Given the description of an element on the screen output the (x, y) to click on. 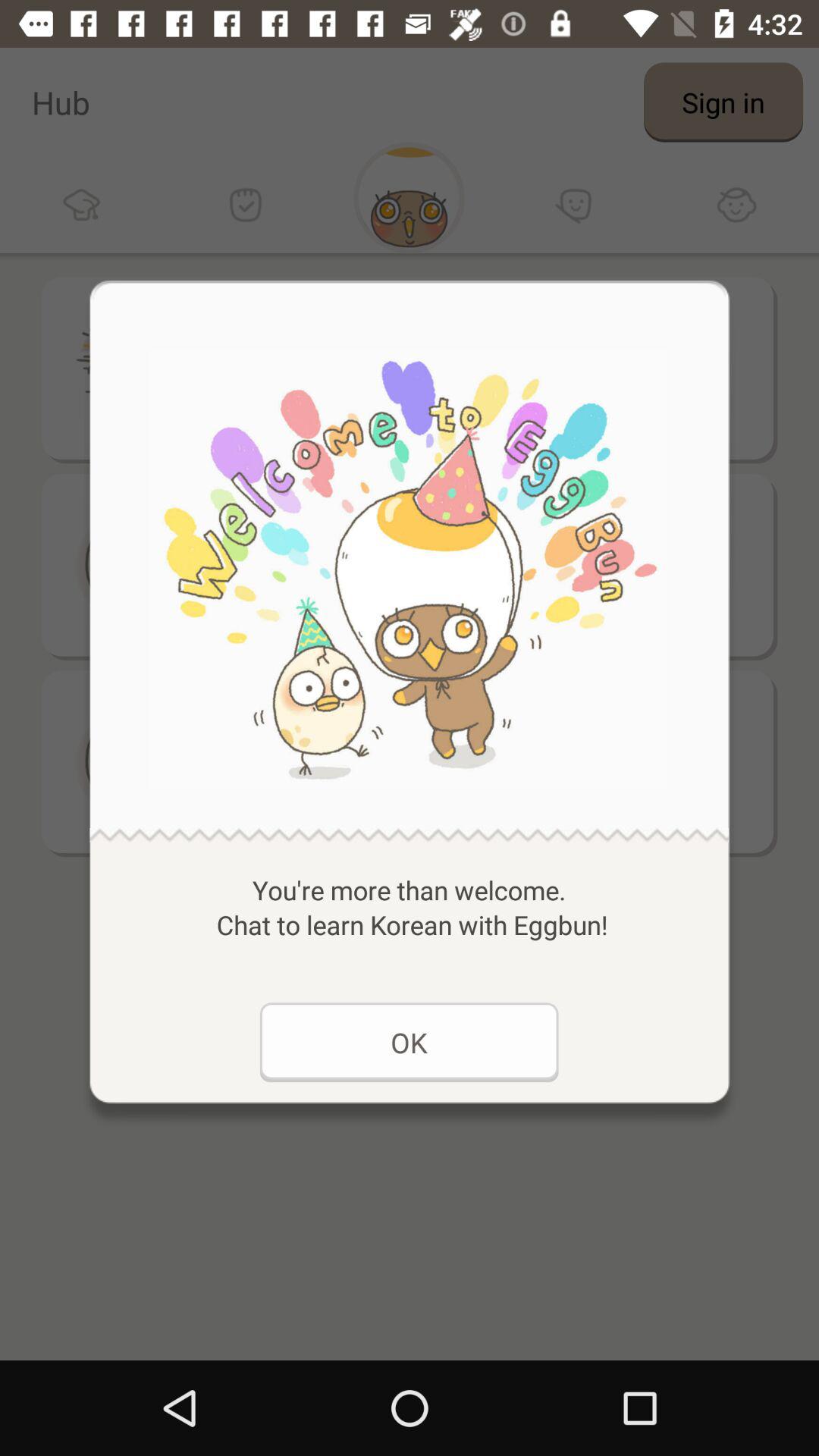
launch the ok at the bottom (408, 1042)
